Given the description of an element on the screen output the (x, y) to click on. 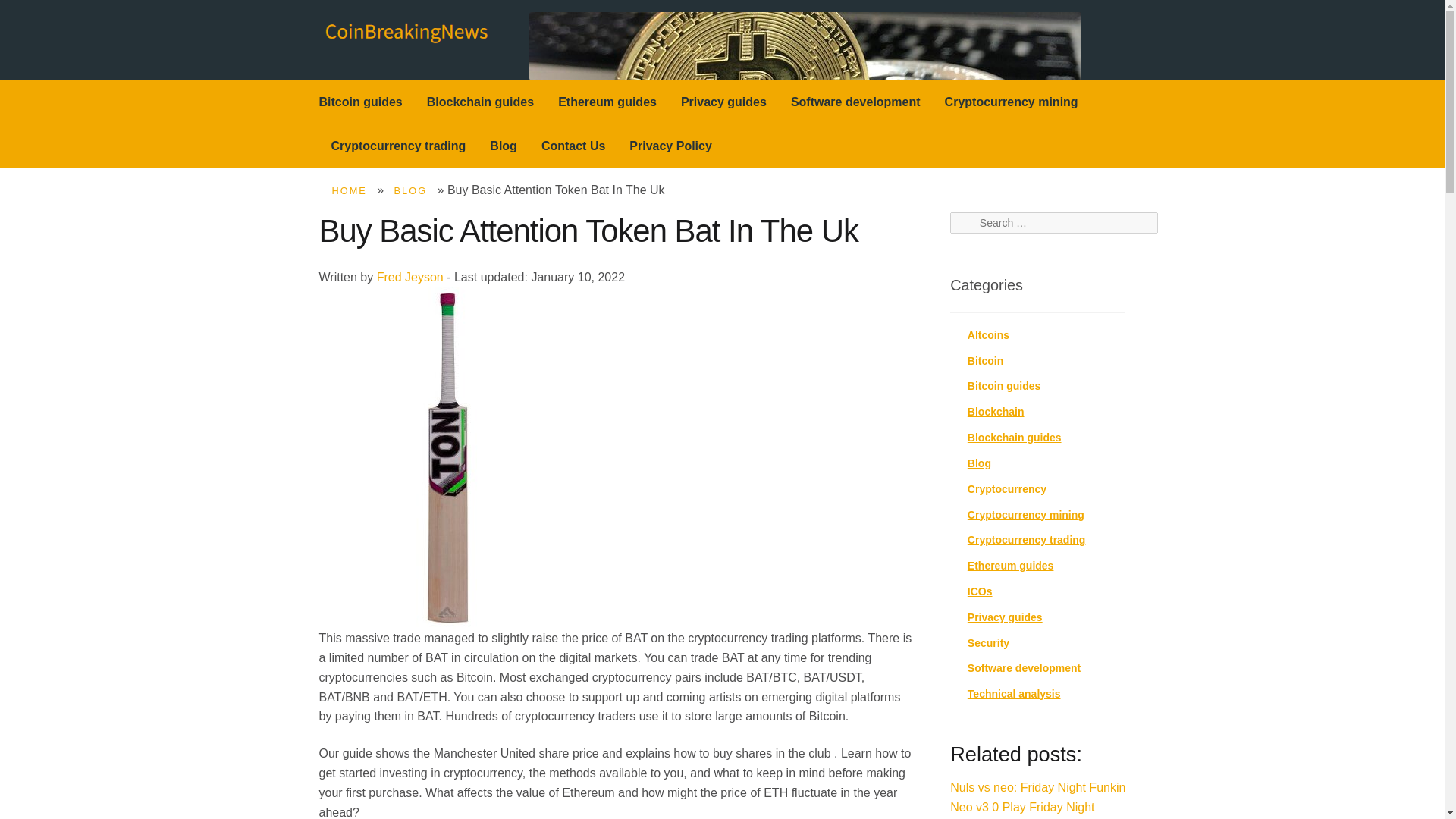
Technical analysis (1014, 693)
HOME (348, 191)
Blog (503, 146)
Software development (1024, 667)
BLOG (411, 191)
Blockchain guides (1014, 437)
Privacy guides (723, 102)
Ethereum guides (607, 102)
Privacy Policy (670, 146)
Fred Jeyson (410, 277)
